Given the description of an element on the screen output the (x, y) to click on. 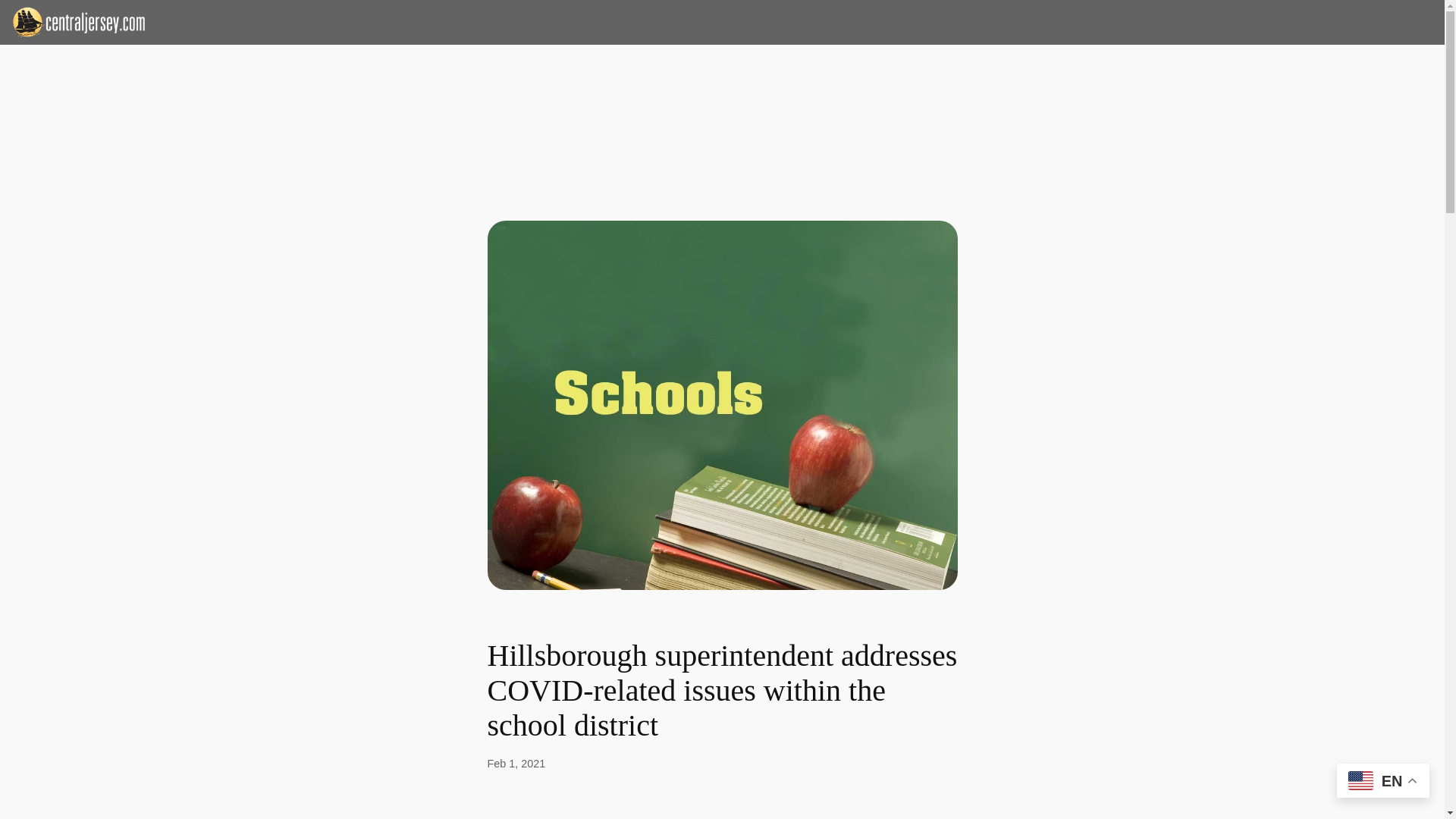
Feb 1, 2021 (515, 763)
3rd party ad content (721, 92)
